Given the description of an element on the screen output the (x, y) to click on. 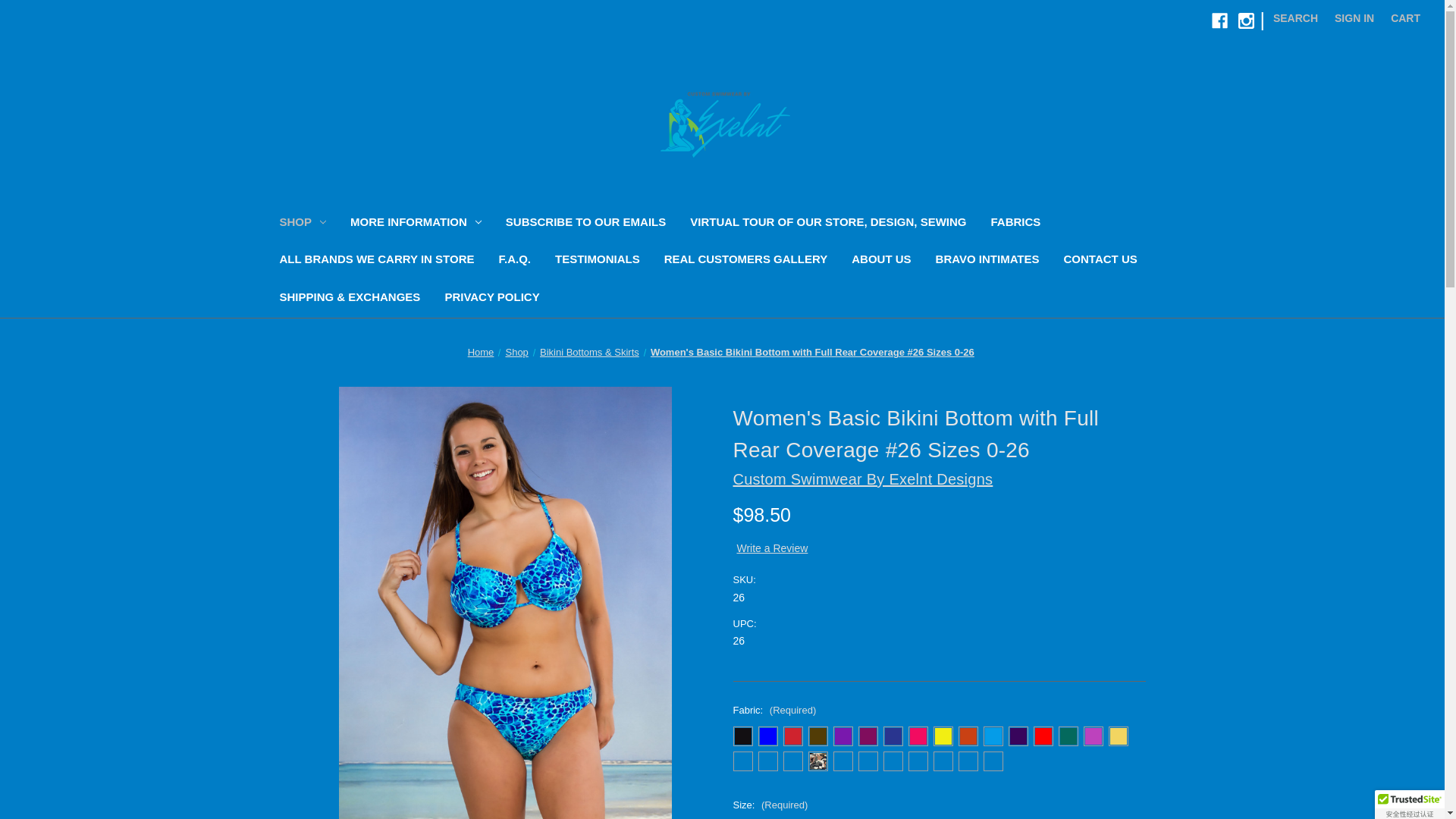
Navy (892, 736)
Paprika (967, 736)
ABOUT US (881, 261)
